Given the description of an element on the screen output the (x, y) to click on. 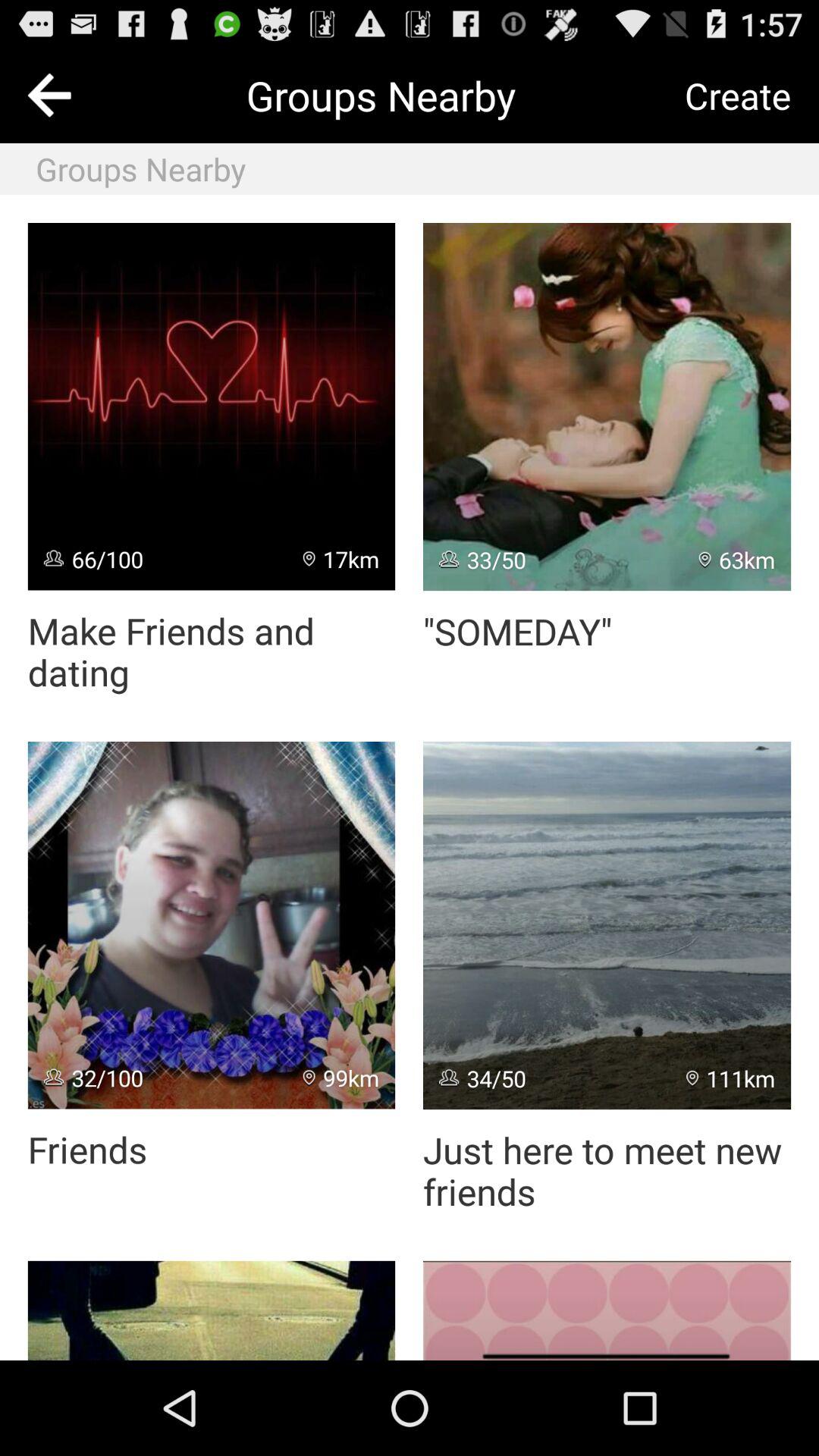
tap item to the right of 66/100 (341, 558)
